Given the description of an element on the screen output the (x, y) to click on. 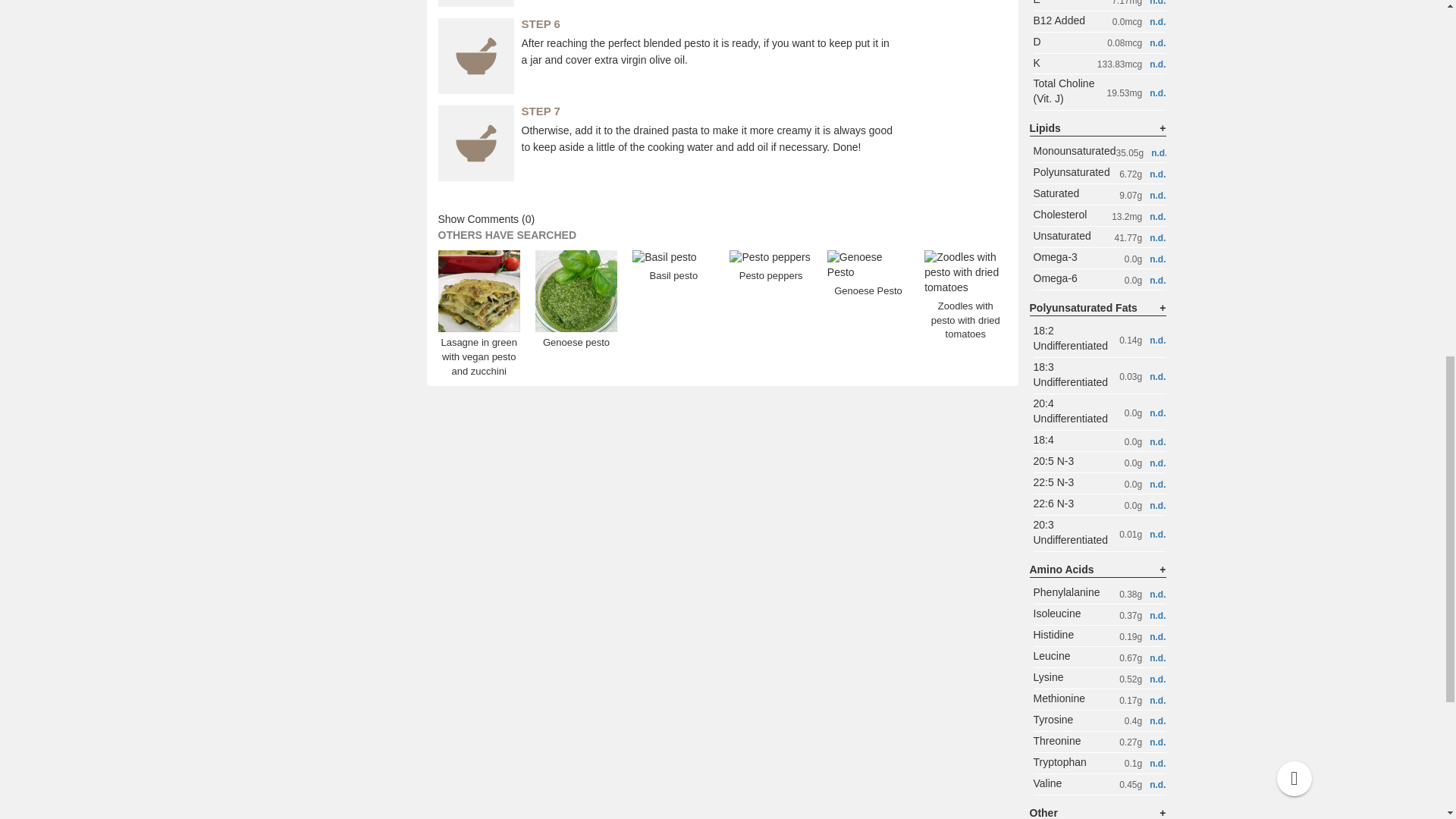
Pesto peppers (769, 266)
Basil pesto (672, 266)
Genoese Pesto step 6 (475, 56)
Zoodles with pesto with dried tomatoes (965, 304)
Genoese pesto (576, 317)
Genoese Pesto step 5 (475, 3)
Genoese Pesto (867, 278)
